Given the description of an element on the screen output the (x, y) to click on. 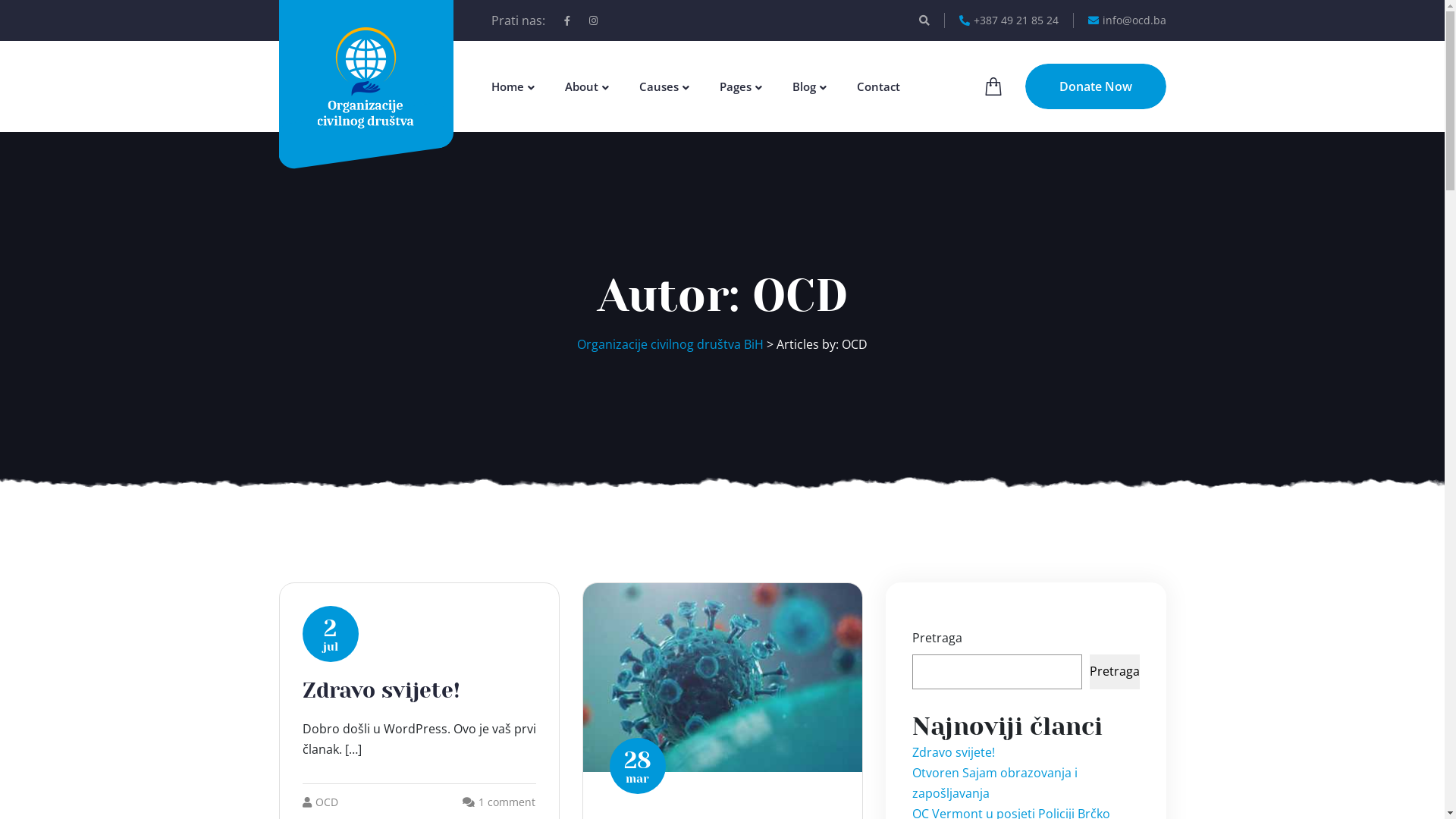
1 comment Element type: text (506, 801)
Zdravo svijete! Element type: text (952, 751)
Zdravo svijete! Element type: text (380, 689)
Pages Element type: text (734, 86)
+387 49 21 85 24 Element type: text (1007, 20)
Home Element type: text (507, 86)
info@ocd.ba Element type: text (1126, 20)
Pretraga Element type: text (1113, 671)
OCD Element type: text (319, 801)
Blog Element type: text (803, 86)
Causes Element type: text (657, 86)
Contact Element type: text (878, 86)
Donate Now Element type: text (1095, 86)
About Element type: text (580, 86)
